Given the description of an element on the screen output the (x, y) to click on. 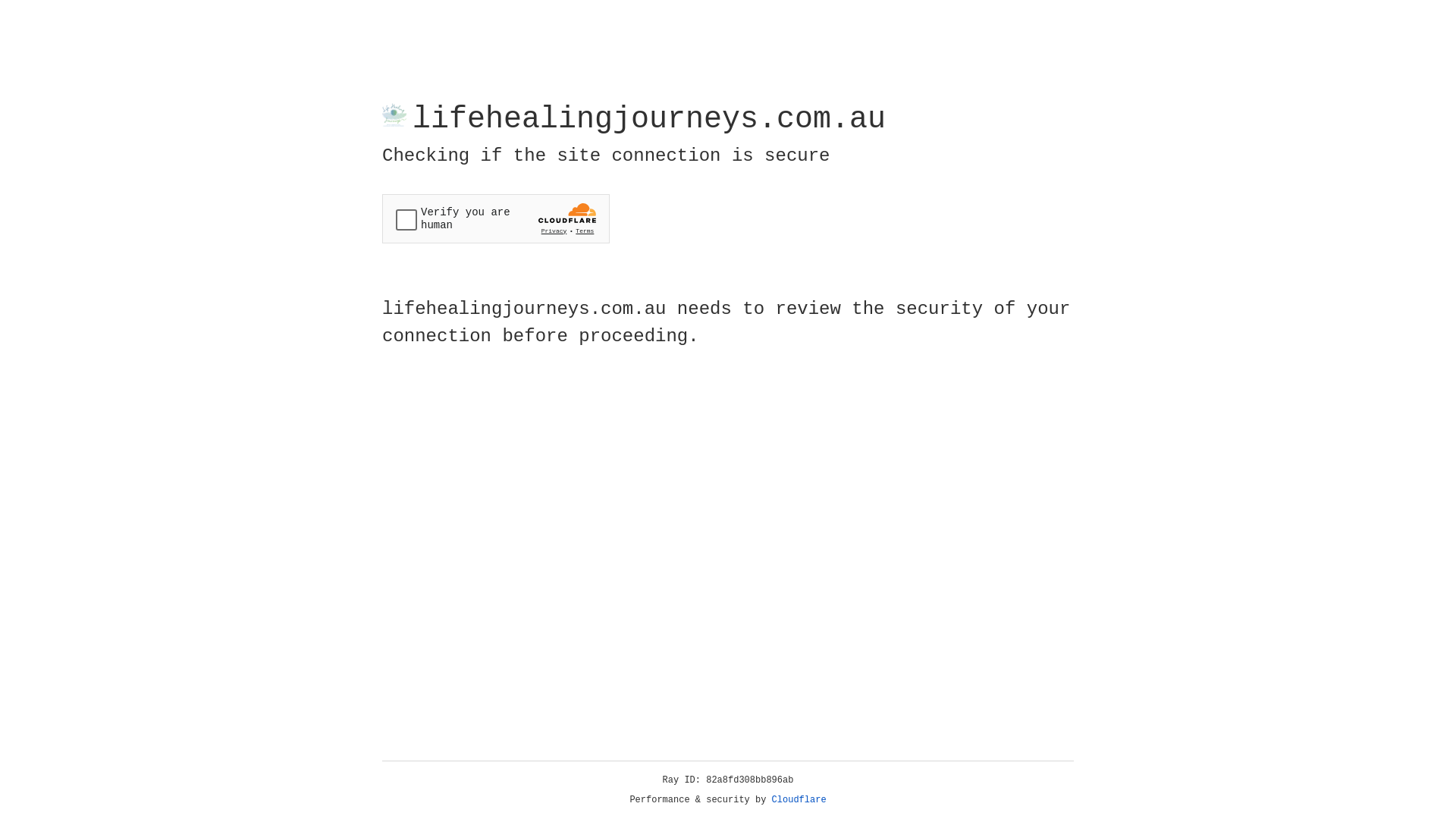
Widget containing a Cloudflare security challenge Element type: hover (495, 218)
Cloudflare Element type: text (798, 799)
